Given the description of an element on the screen output the (x, y) to click on. 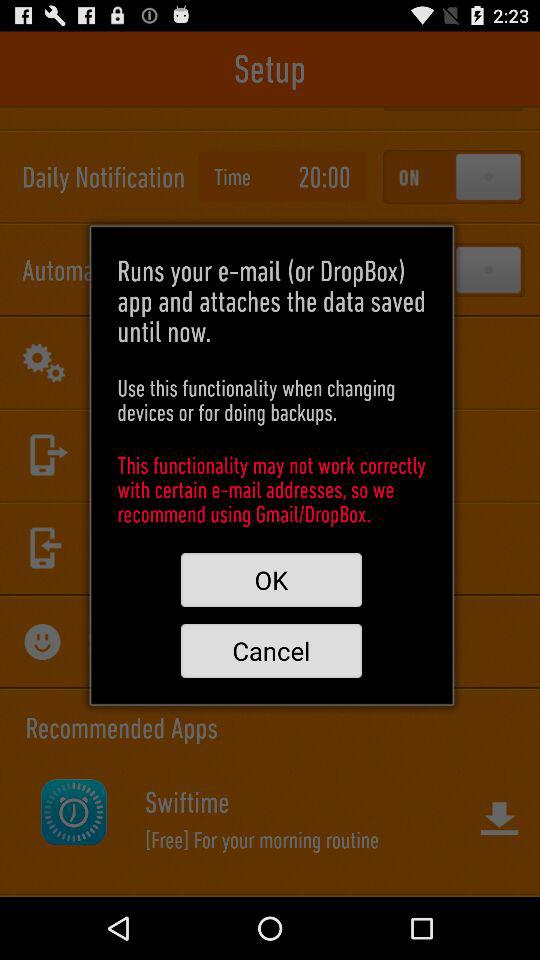
flip to the cancel icon (271, 650)
